Given the description of an element on the screen output the (x, y) to click on. 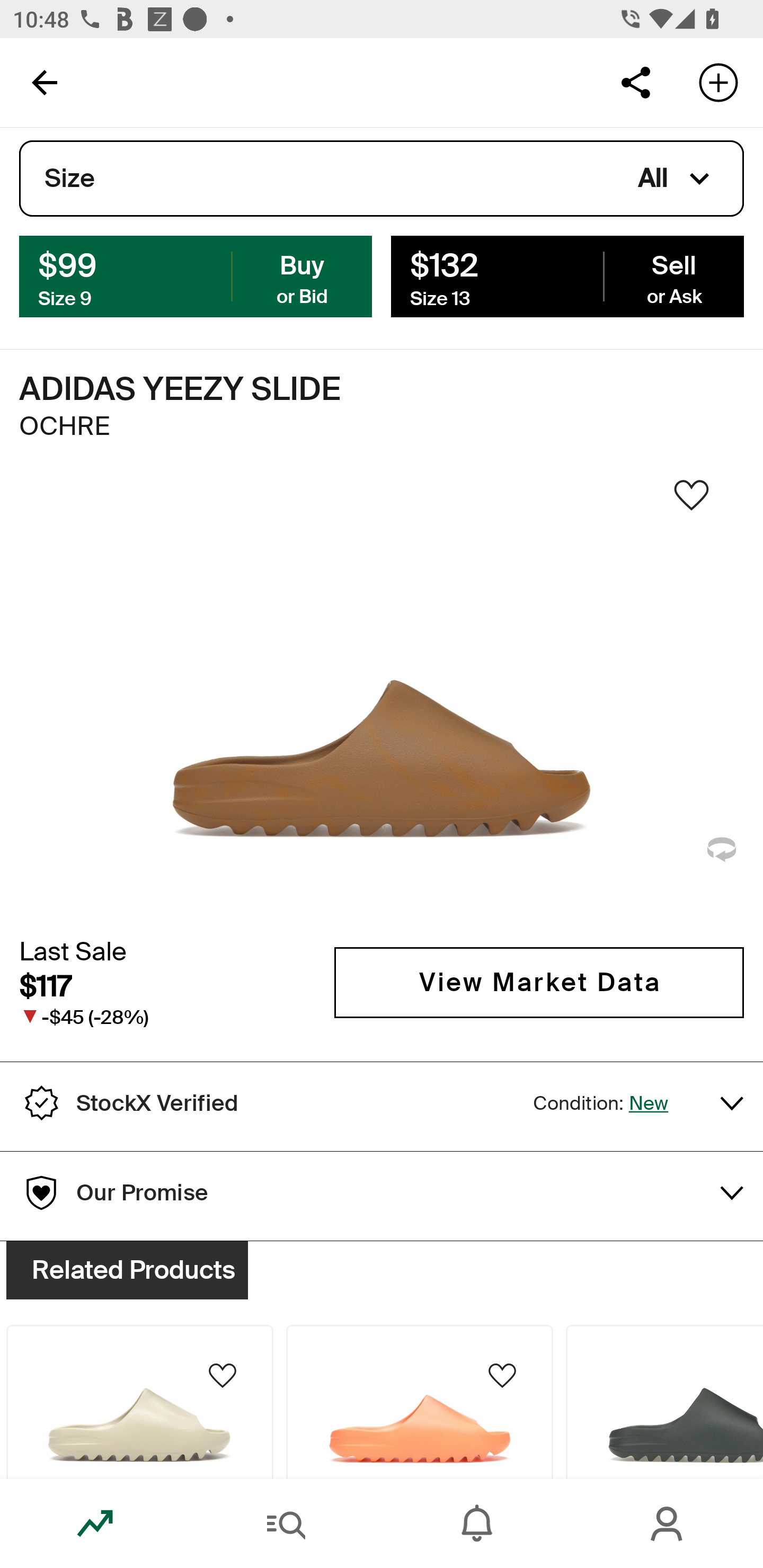
Share (635, 81)
Add (718, 81)
Size All (381, 178)
$99 Buy Size 9 or Bid (195, 275)
$132 Sell Size 13 or Ask (566, 275)
Sneaker Image (381, 699)
View Market Data (538, 982)
Product Image (139, 1401)
Product Image (419, 1401)
Product Image (664, 1401)
Search (285, 1523)
Inbox (476, 1523)
Account (667, 1523)
